Given the description of an element on the screen output the (x, y) to click on. 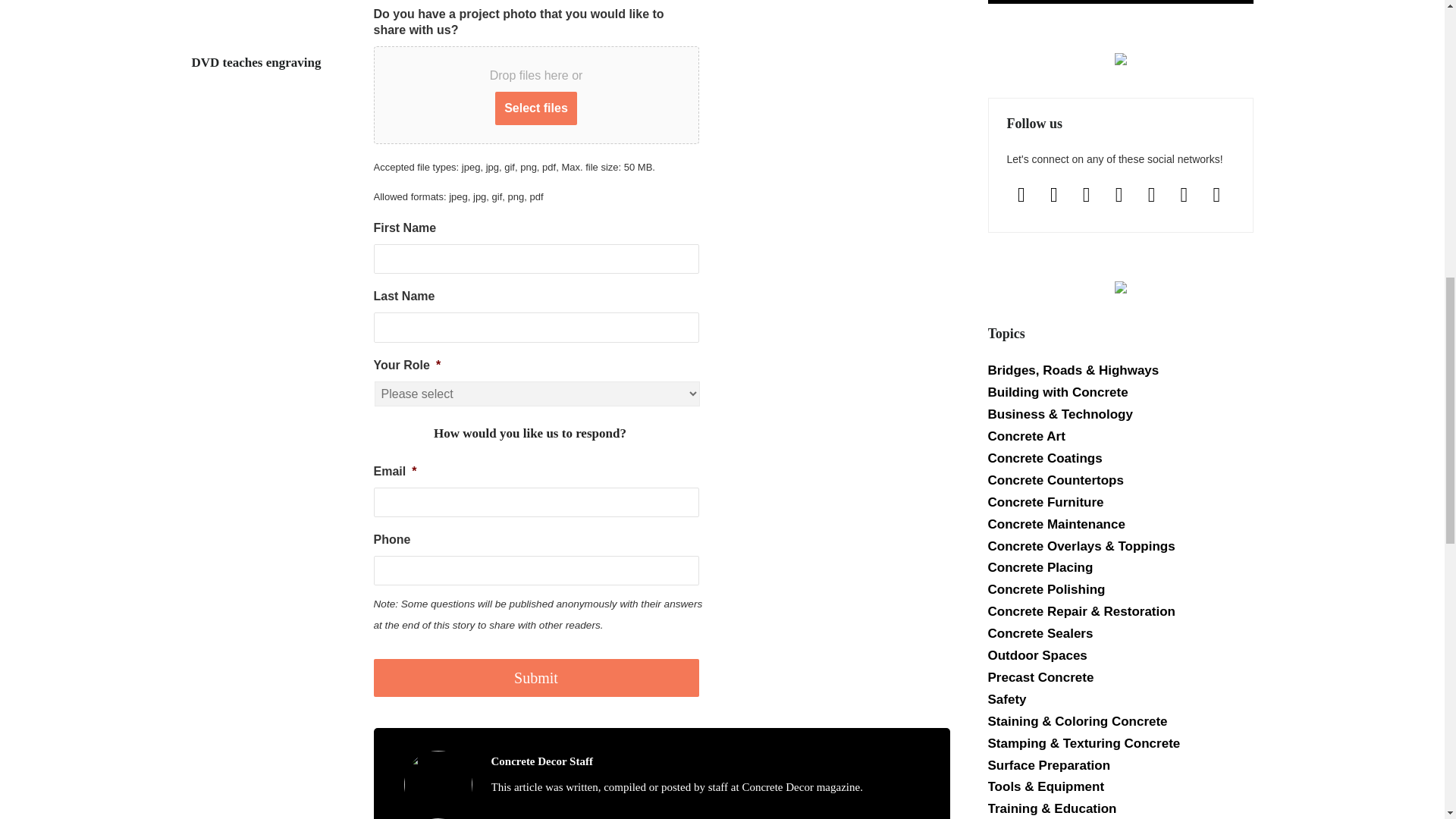
DVD teaches engraving (266, 27)
Instagram (1053, 193)
Default Label (1183, 193)
Submit (535, 677)
Facebook (1021, 193)
Default Label (1085, 193)
Default Label (1118, 193)
Posts by Concrete Decor Staff (542, 761)
Twitter (1151, 193)
DVD teaches engraving (266, 63)
